Given the description of an element on the screen output the (x, y) to click on. 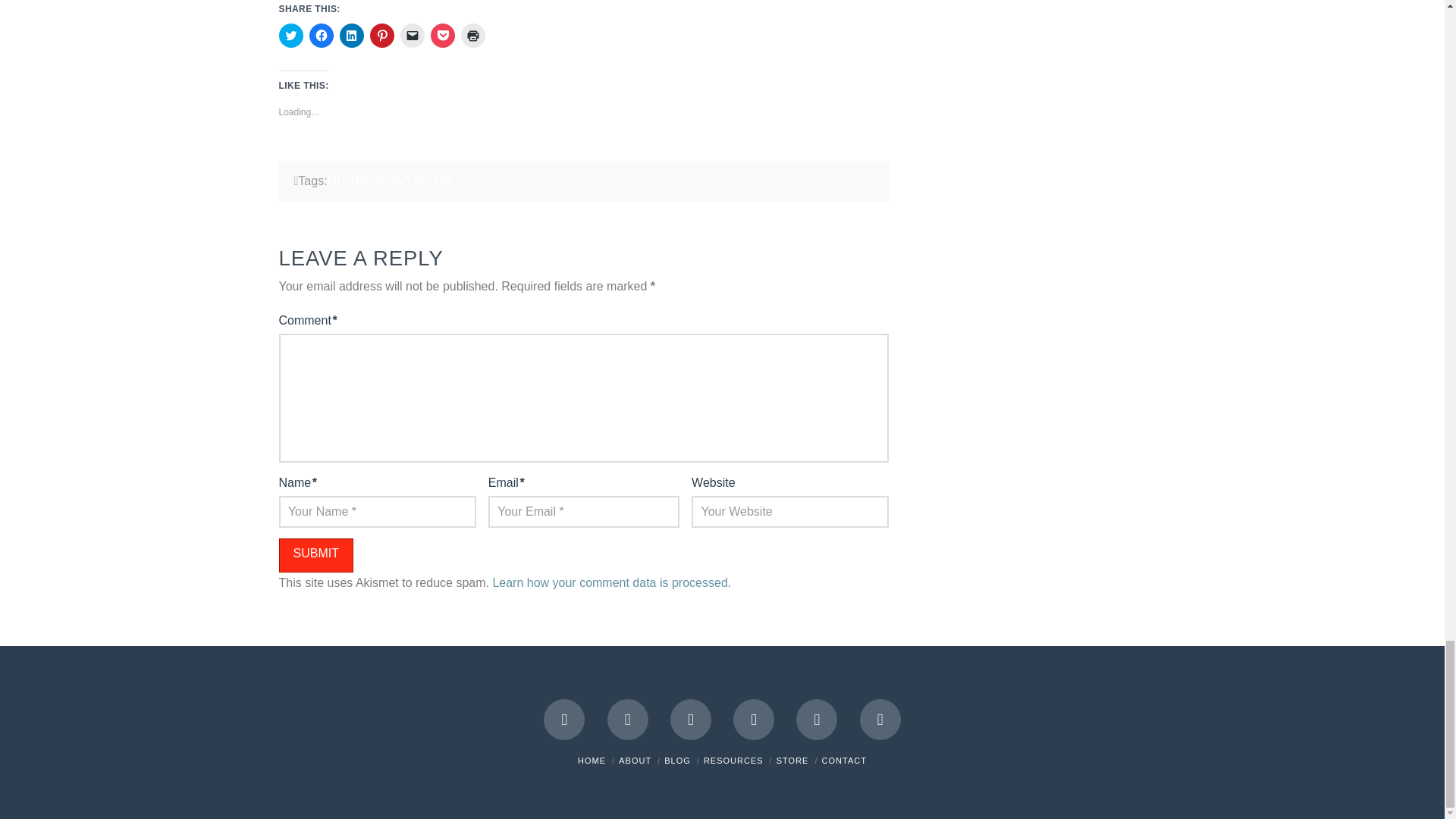
Click to print (472, 35)
Instagram (816, 719)
Click to share on Twitter (290, 35)
RSS (880, 719)
Click to share on Pocket (442, 35)
Click to share on LinkedIn (351, 35)
Click to share on Facebook (320, 35)
Click to share on Pinterest (381, 35)
Twitter (627, 719)
Submit (316, 555)
Click to email a link to a friend (412, 35)
LinkedIn (690, 719)
Facebook (564, 719)
YouTube (753, 719)
